Given the description of an element on the screen output the (x, y) to click on. 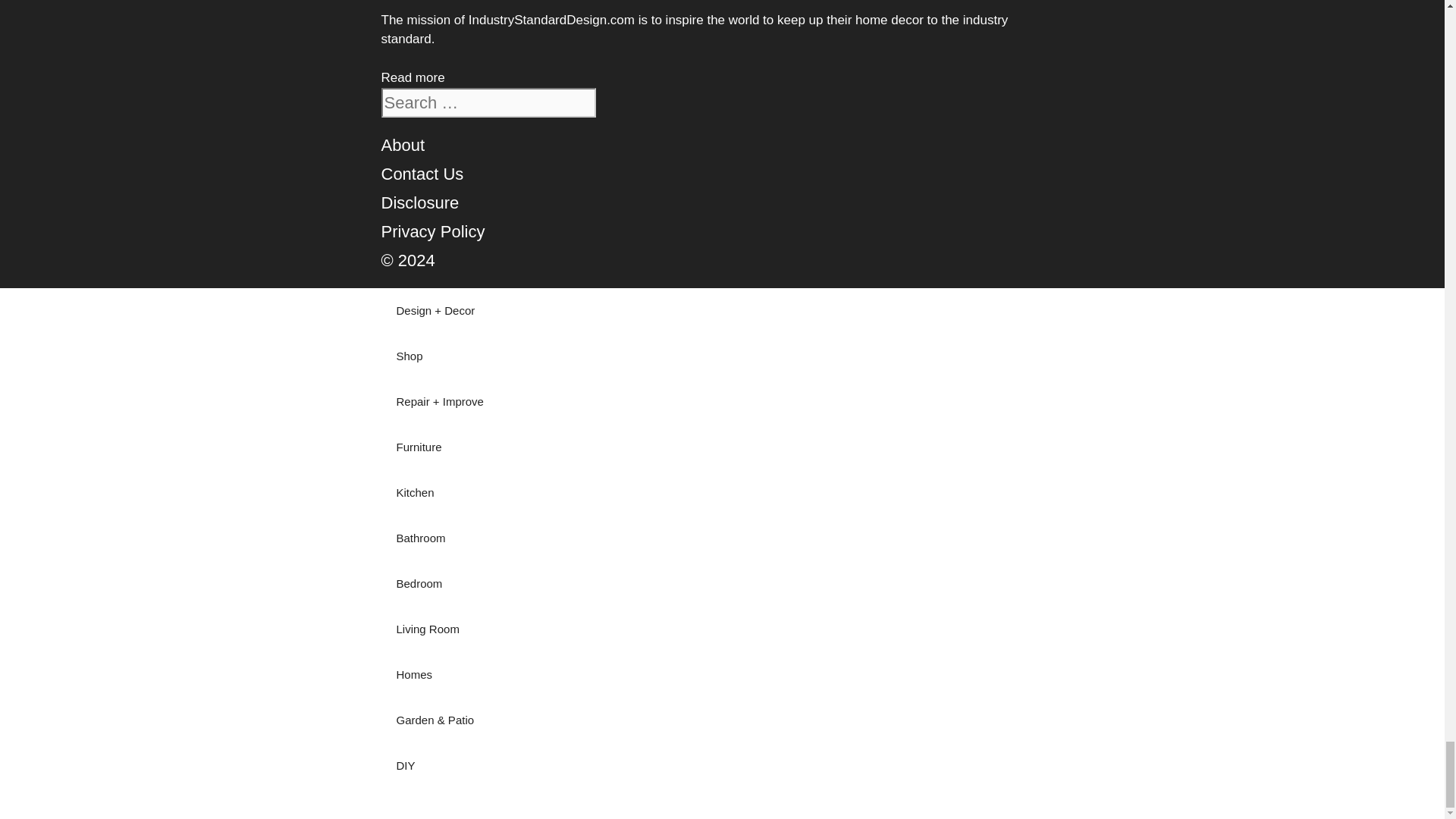
Search for: (487, 102)
Read more (412, 77)
